Given the description of an element on the screen output the (x, y) to click on. 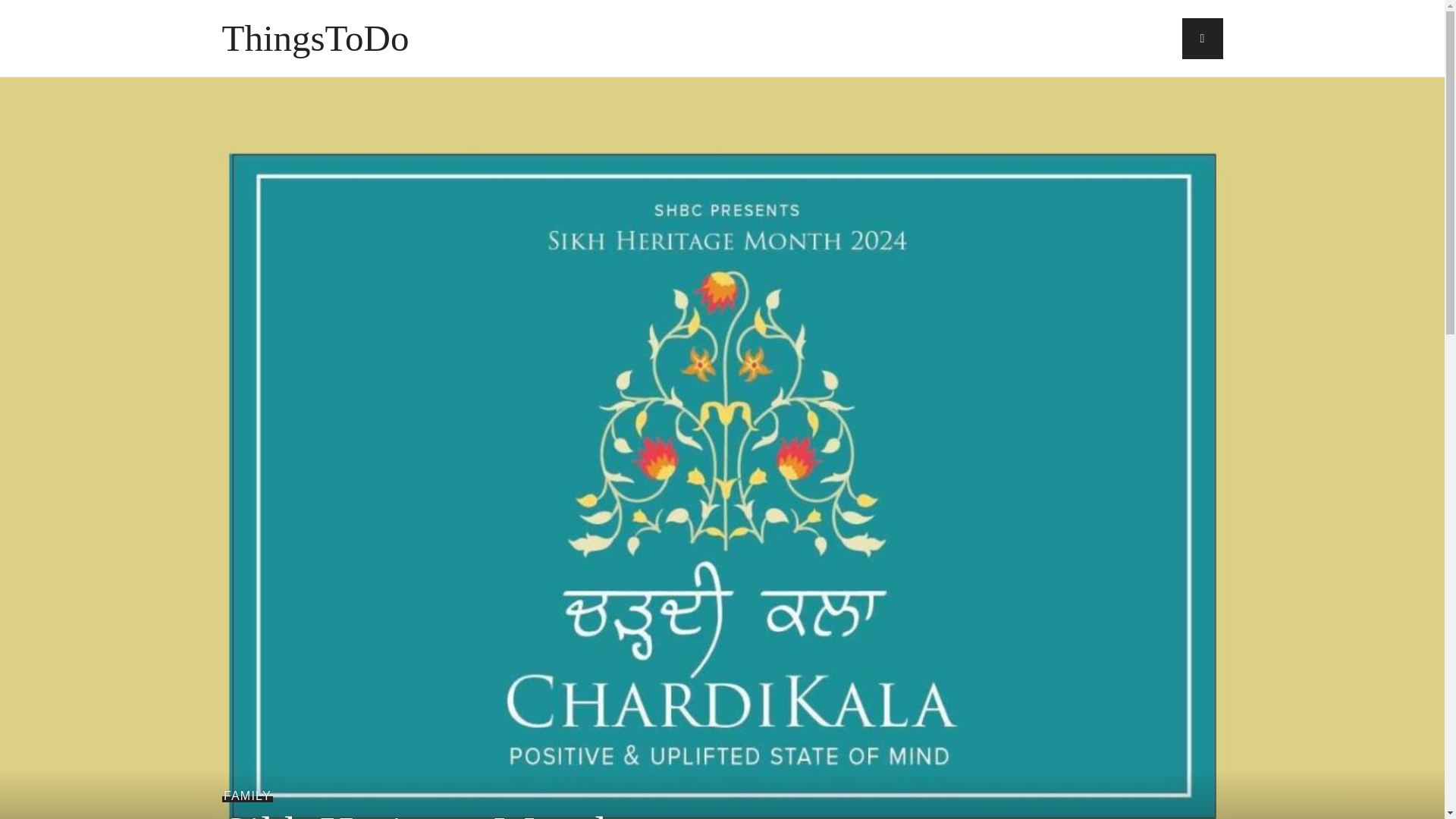
FAMILY (247, 795)
ThingsToDo (315, 37)
MENU (1201, 38)
